Given the description of an element on the screen output the (x, y) to click on. 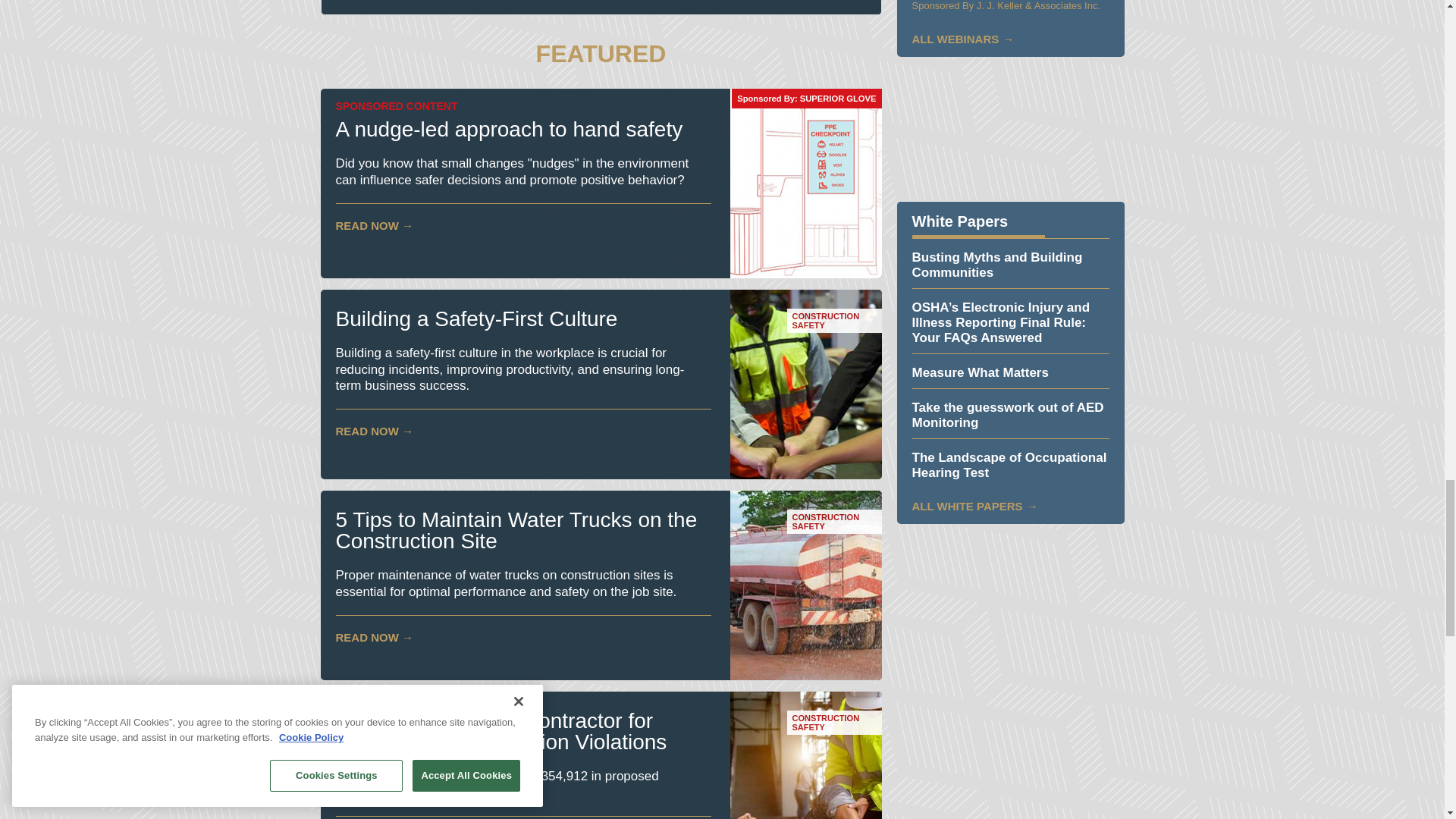
3rd party ad content (1010, 595)
3rd party ad content (1010, 128)
